Given the description of an element on the screen output the (x, y) to click on. 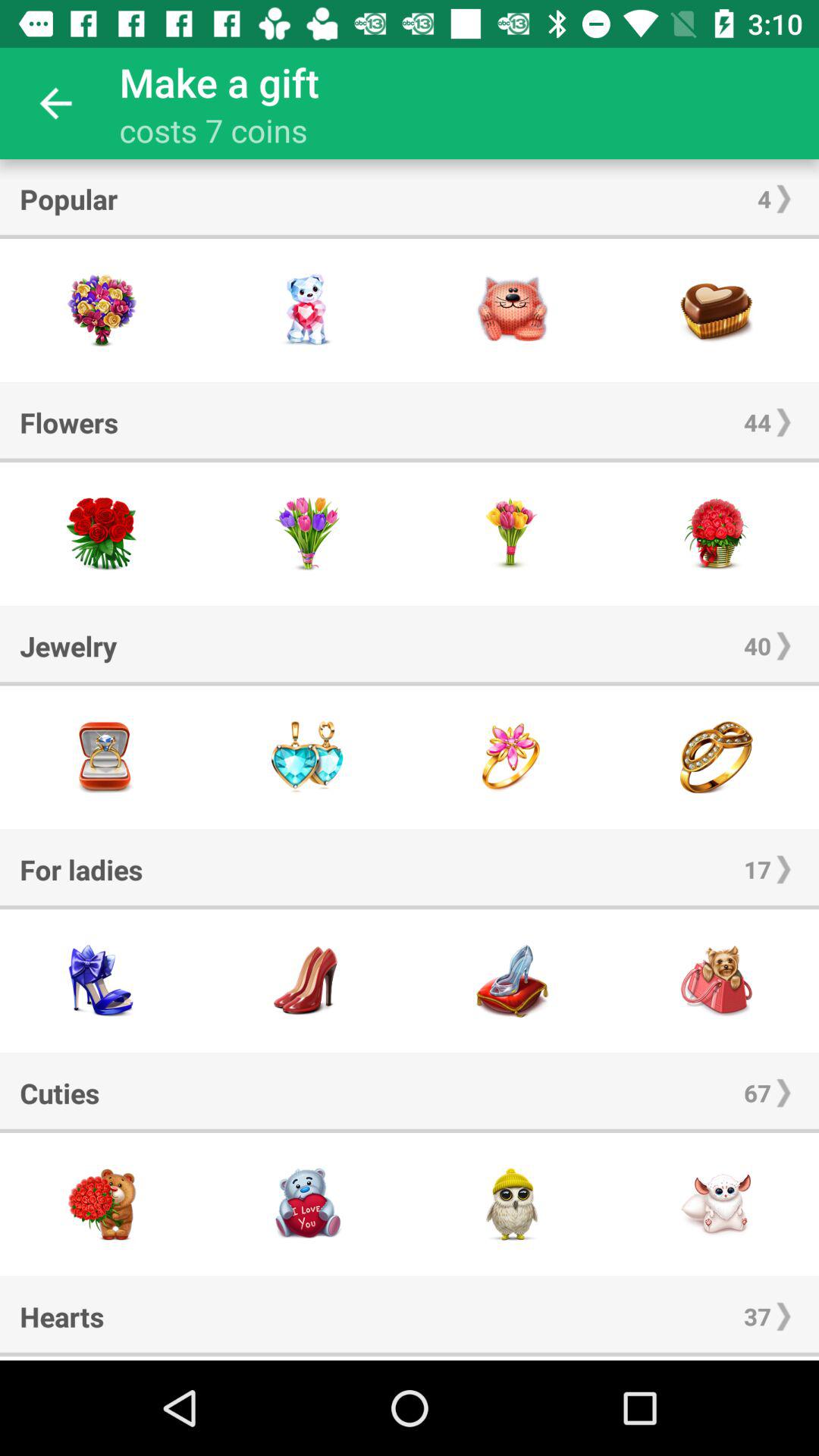
choose the icon to the right of hearts (757, 1316)
